Given the description of an element on the screen output the (x, y) to click on. 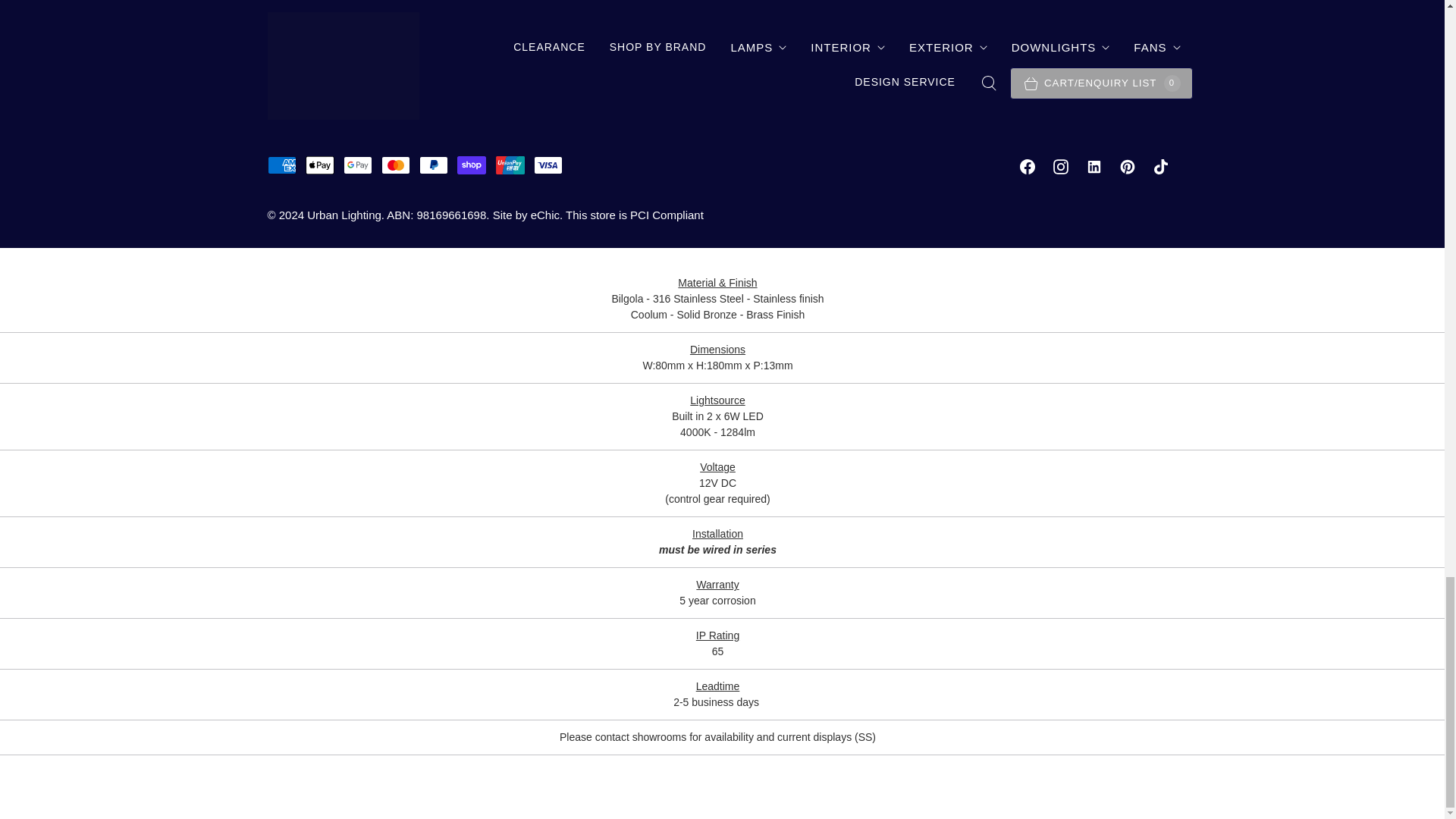
Sign Up (1074, 5)
Apple Pay (319, 165)
Shop Pay (471, 165)
Mastercard (395, 165)
American Express (280, 165)
PayPal (433, 165)
Google Pay (357, 165)
Union Pay (510, 165)
Visa (548, 165)
